Given the description of an element on the screen output the (x, y) to click on. 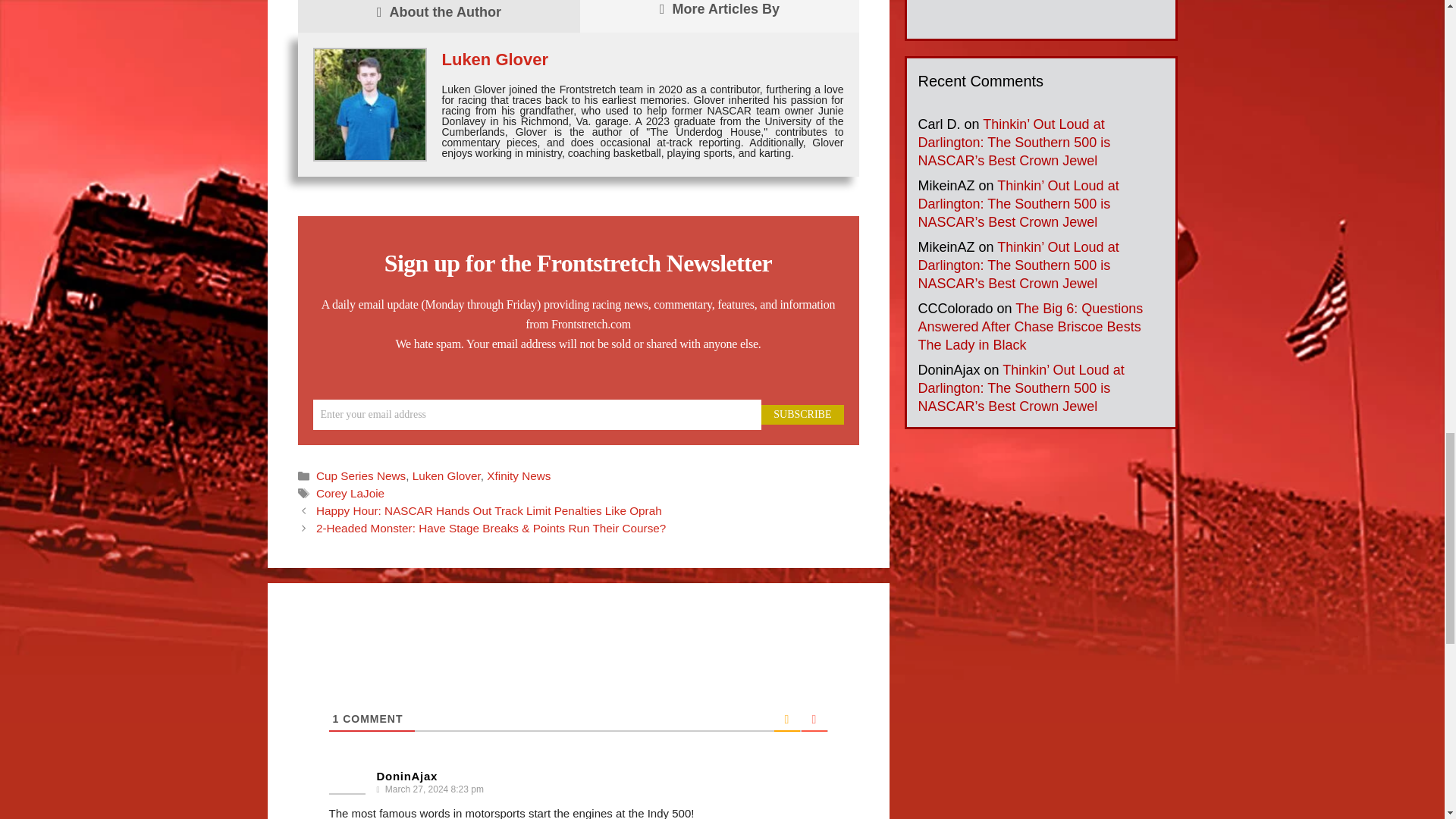
Xfinity News (518, 475)
Cup Series News (360, 475)
Corey LaJoie (349, 492)
Luken Glover (494, 58)
March 27, 2024 8:23 pm (432, 789)
Luken Glover (446, 475)
SUBSCRIBE (802, 414)
